Given the description of an element on the screen output the (x, y) to click on. 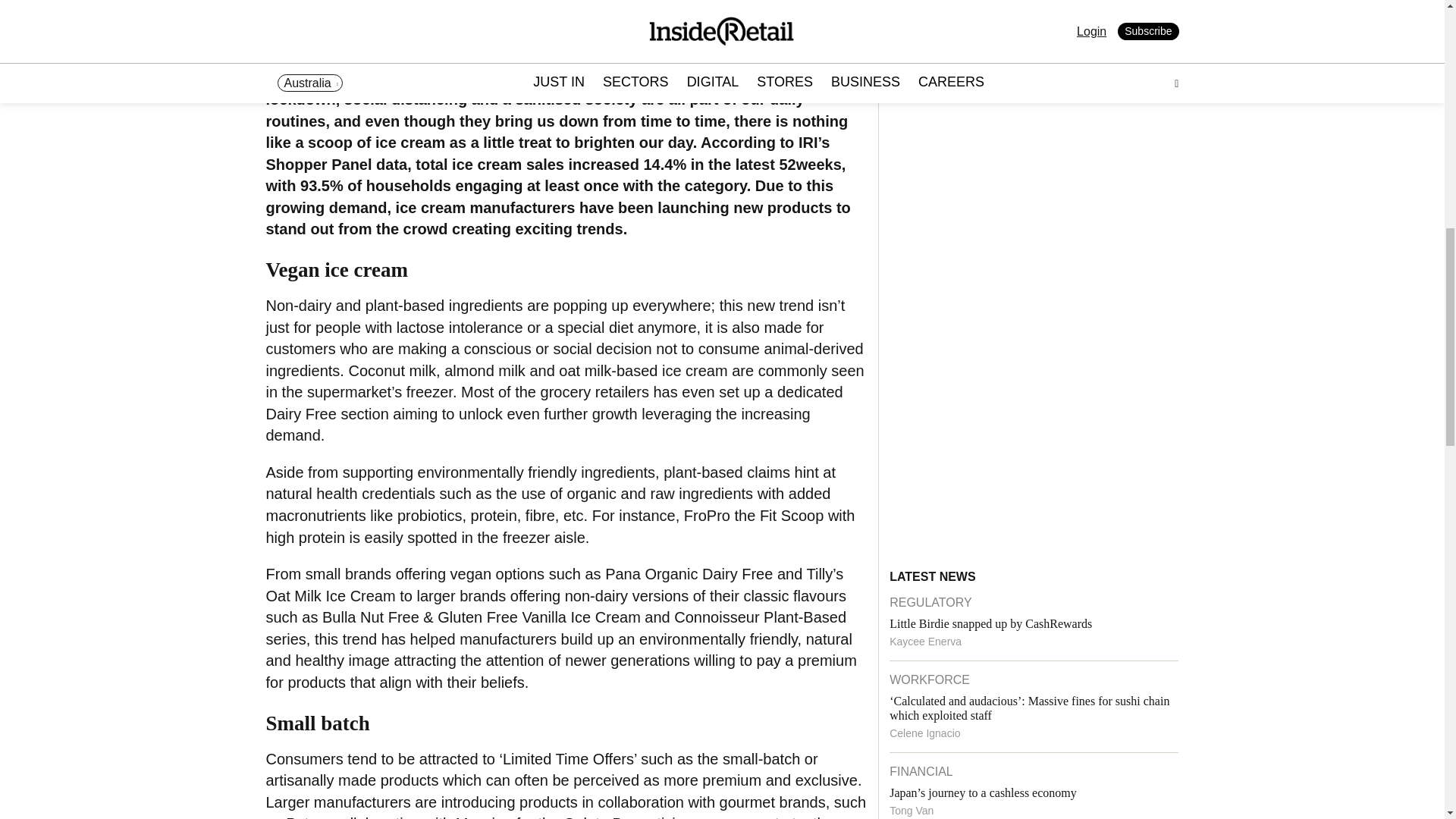
3rd party ad content (1002, 49)
3rd party ad content (1002, 714)
Sponsored content (946, 570)
Sectors (1098, 542)
Latest (1032, 542)
